Given the description of an element on the screen output the (x, y) to click on. 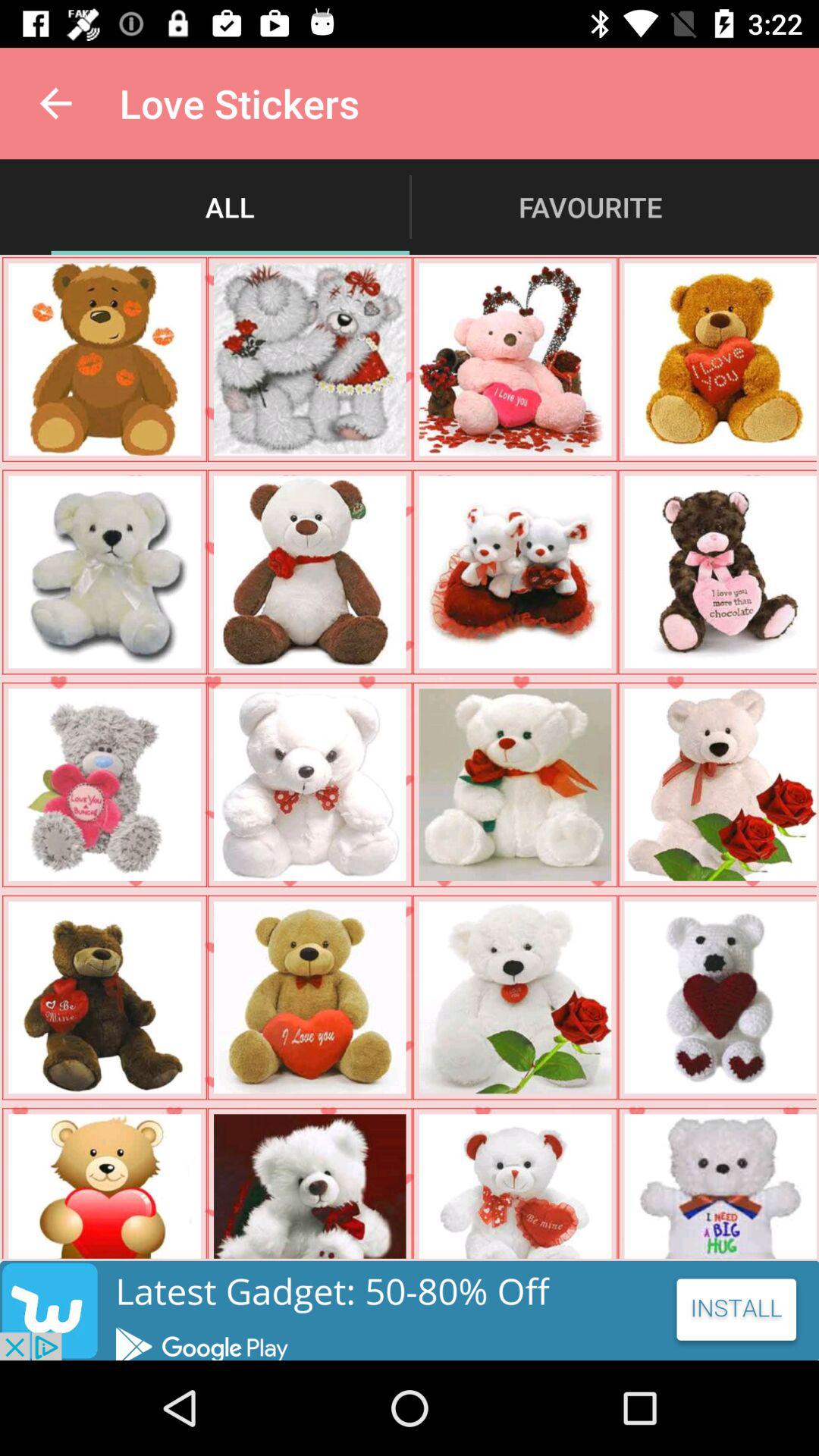
offer details (409, 1310)
